Given the description of an element on the screen output the (x, y) to click on. 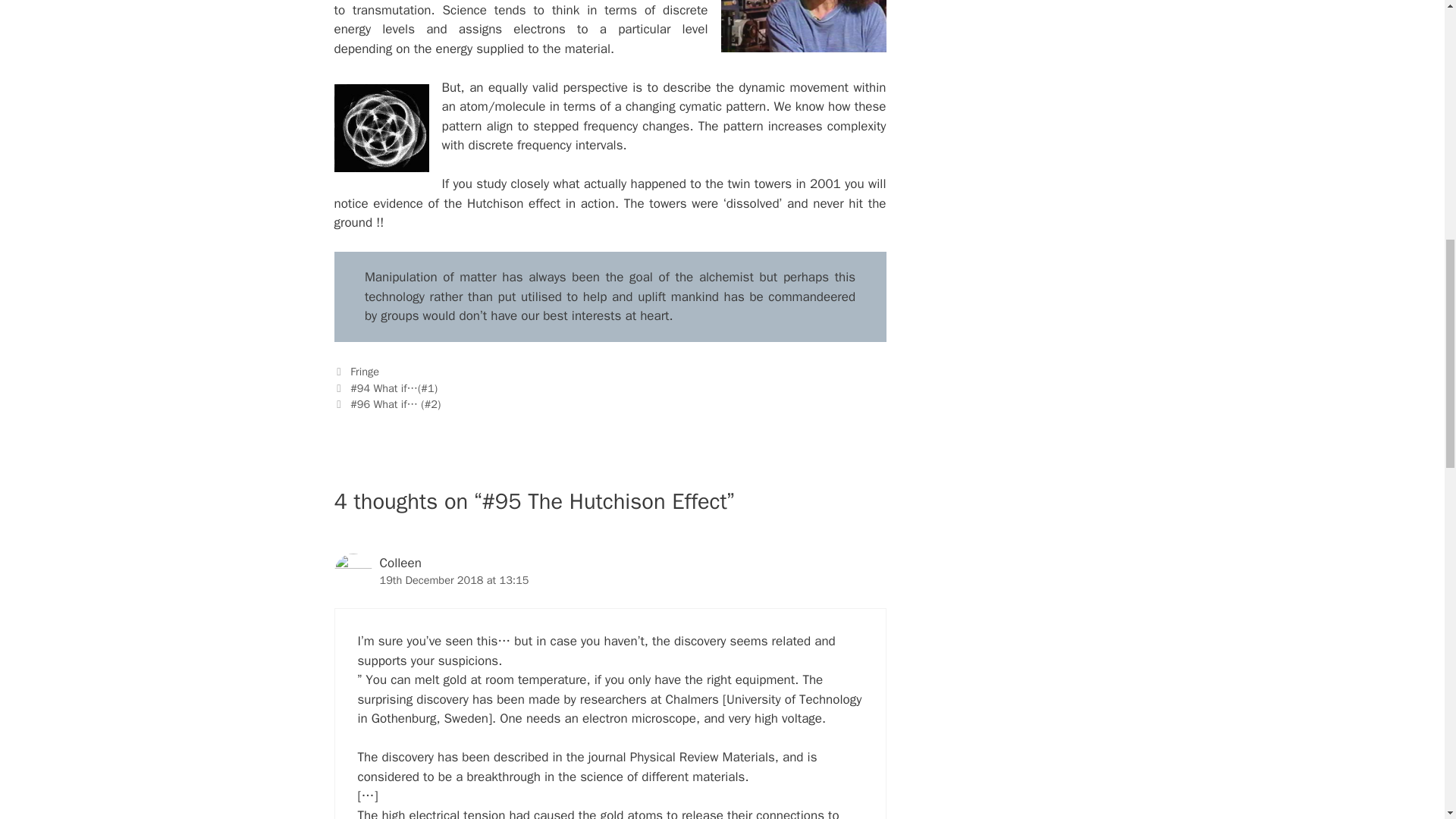
Scroll back to top (1406, 720)
Fringe (364, 371)
19th December 2018 at 13:15 (453, 580)
